Given the description of an element on the screen output the (x, y) to click on. 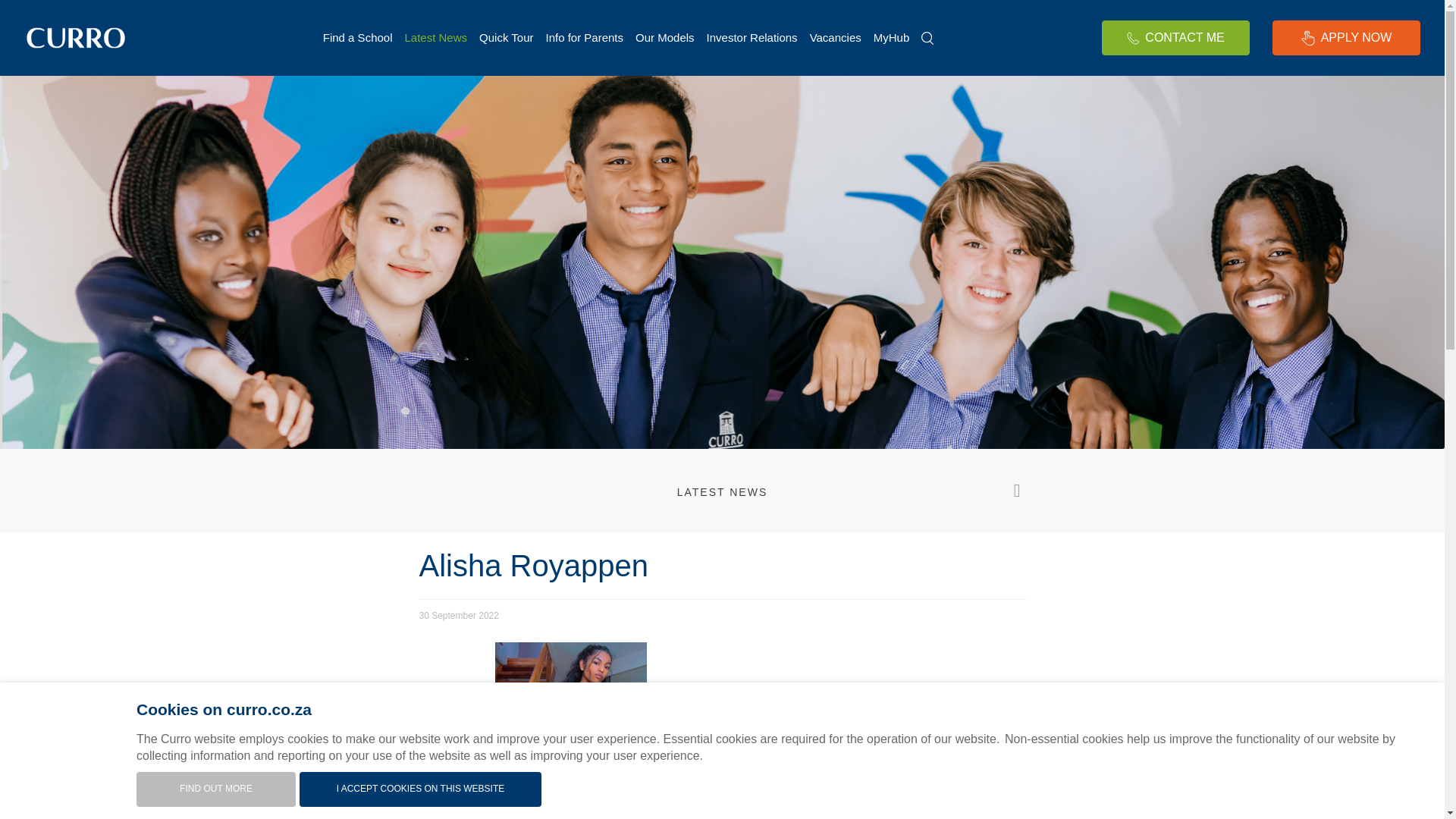
I ACCEPT COOKIES ON THIS WEBSITE (420, 789)
Quick Tour (505, 38)
Latest News (436, 38)
MyHub (891, 38)
Vacancies (835, 38)
Find a School (357, 38)
Our Models (664, 38)
CONTACT ME (1175, 37)
APPLY NOW (1346, 37)
Investor Relations (751, 38)
FIND OUT MORE (215, 789)
Info for Parents (583, 38)
